Given the description of an element on the screen output the (x, y) to click on. 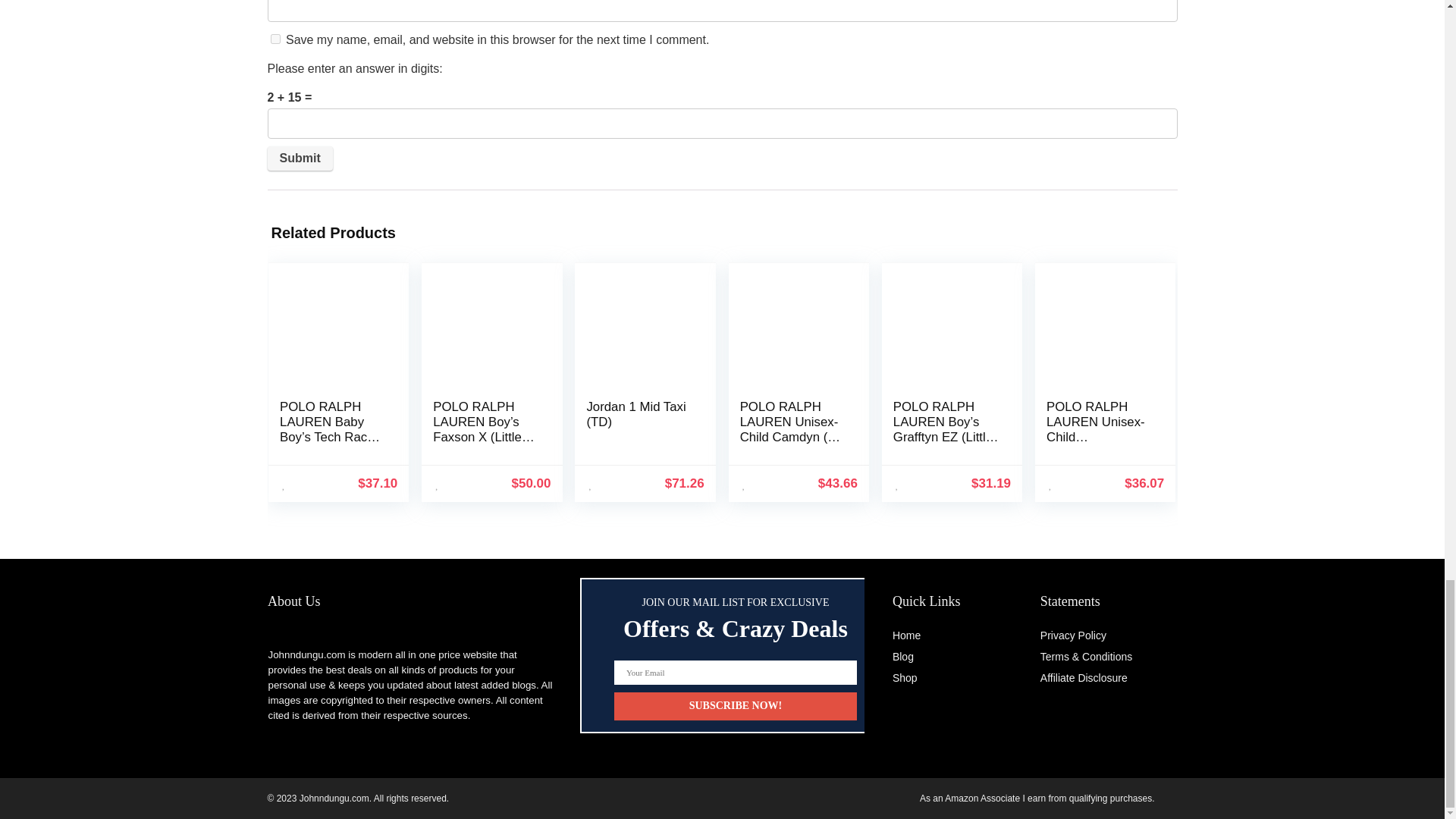
yes (274, 39)
Submit (298, 158)
Submit (298, 158)
SUBSCRIBE NOW! (735, 706)
